Given the description of an element on the screen output the (x, y) to click on. 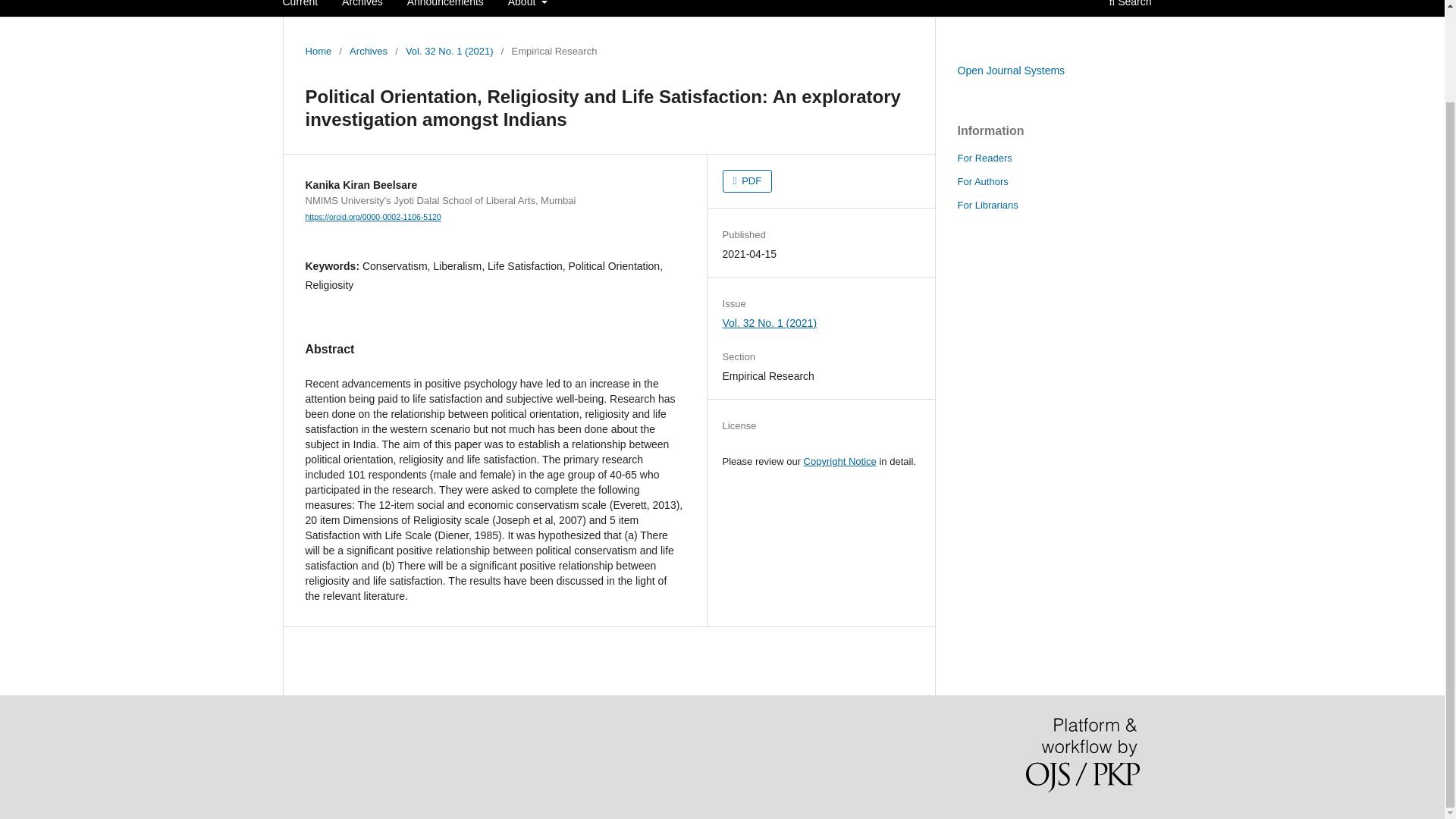
Copyright Notice (839, 460)
About (527, 8)
Search (1129, 8)
Announcements (445, 8)
For Librarians (986, 204)
For Authors (981, 181)
Archives (368, 51)
Archives (362, 8)
Open Journal Systems (1010, 70)
Current (300, 8)
Home (317, 51)
For Readers (983, 157)
Copyright Notice (839, 460)
PDF (747, 180)
